Given the description of an element on the screen output the (x, y) to click on. 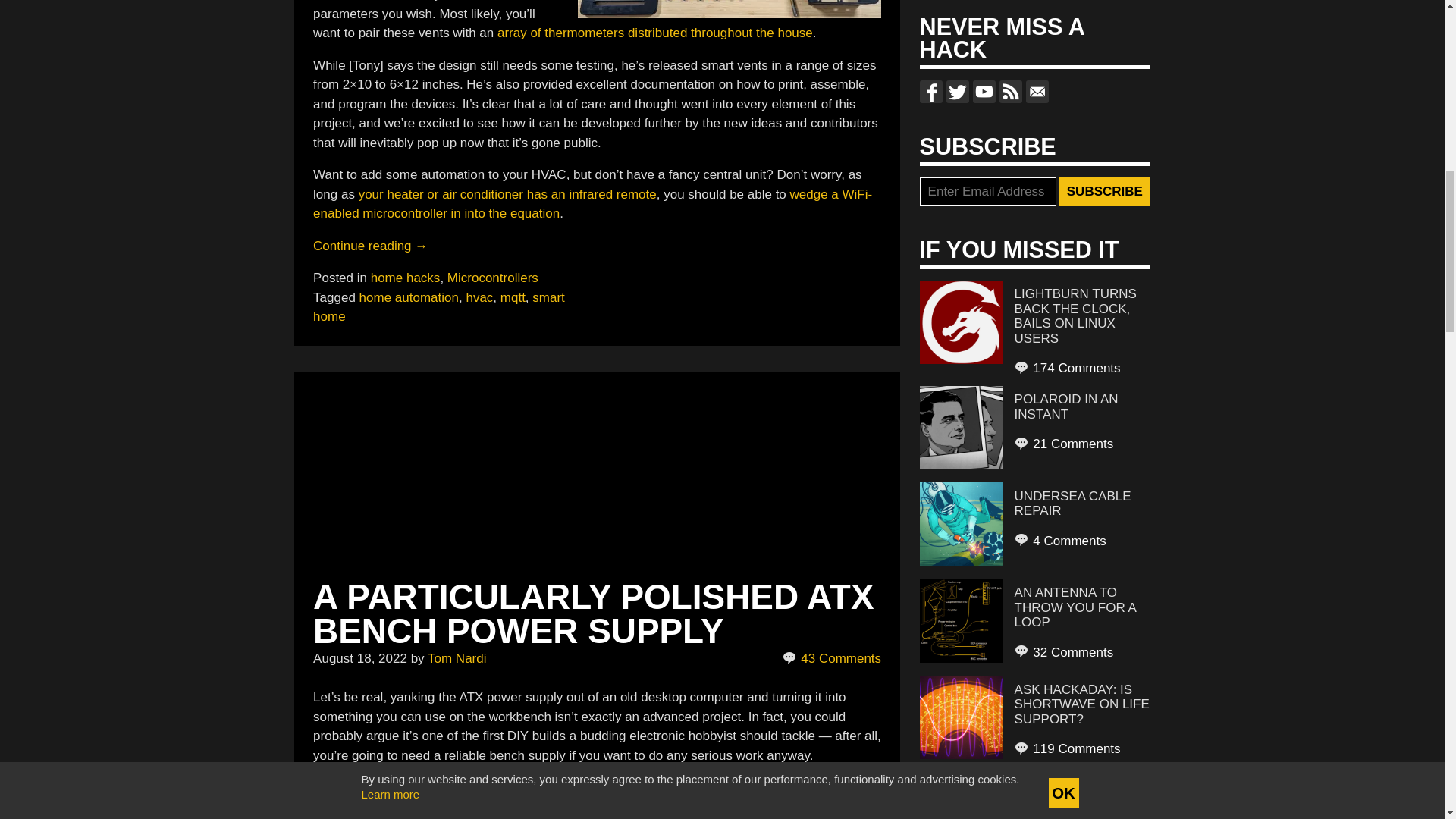
43 Comments (832, 659)
A PARTICULARLY POLISHED ATX BENCH POWER SUPPLY (593, 613)
wedge a WiFi-enabled microcontroller in into the equation (592, 203)
Microcontrollers (492, 278)
home automation (408, 296)
Posts by Tom Nardi (457, 658)
Tom Nardi (457, 658)
smart home (438, 306)
Subscribe (1104, 191)
hvac (479, 296)
August 18, 2022 (360, 658)
August 18, 2022 - 1:00 am (360, 658)
mqtt (512, 296)
home hacks (406, 278)
array of thermometers distributed throughout the house (654, 32)
